Given the description of an element on the screen output the (x, y) to click on. 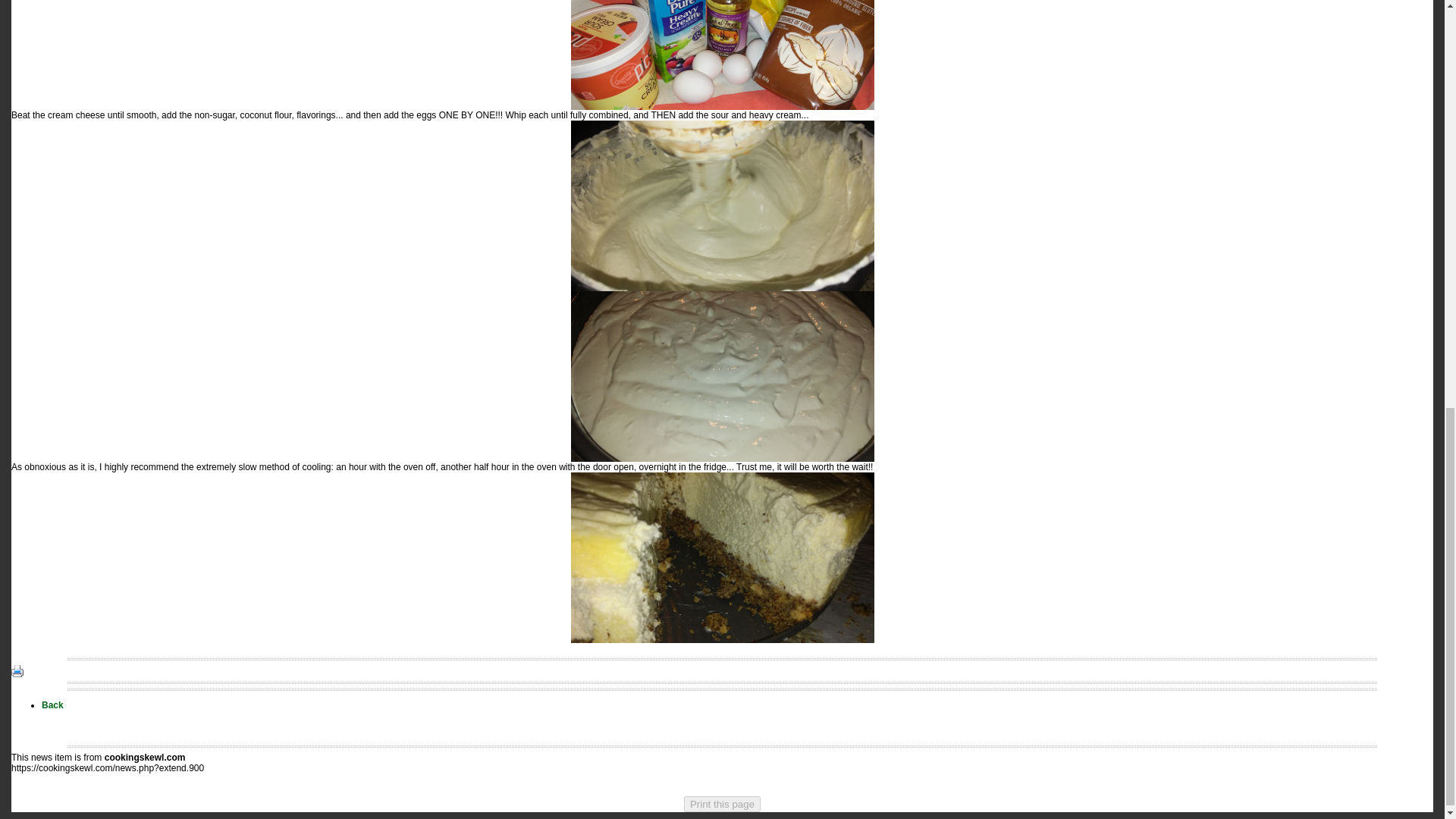
Kchcksmooth (721, 205)
Back (53, 705)
Kchckfilling (721, 54)
Kchcktop (721, 376)
Print this page (722, 804)
Kchckinterior (721, 557)
printer friendly (17, 670)
